Given the description of an element on the screen output the (x, y) to click on. 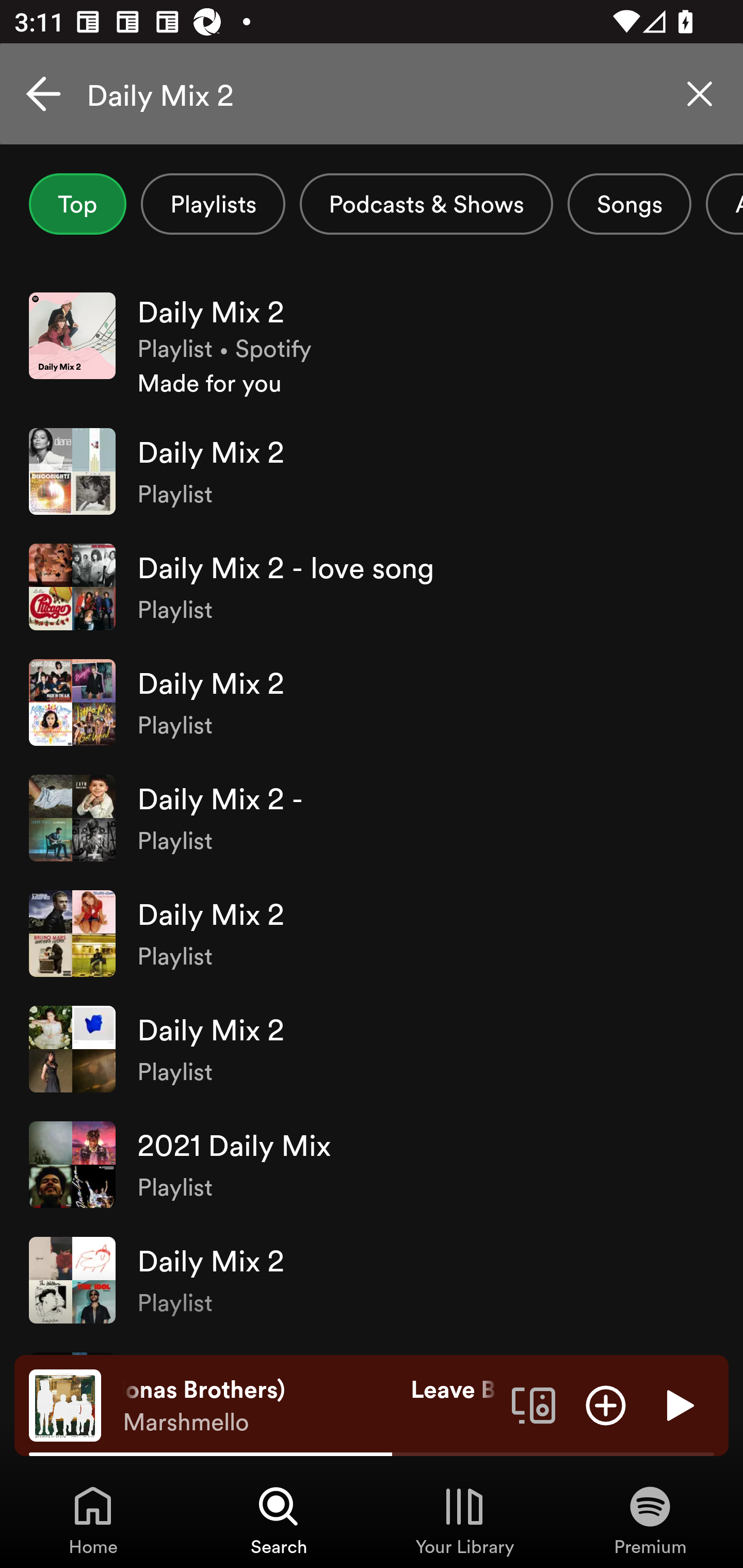
Daily Mix 2 (371, 93)
Cancel (43, 93)
Clear search query (699, 93)
Top (77, 203)
Playlists (213, 203)
Podcasts & Shows (425, 203)
Songs (629, 203)
Albums (724, 203)
Daily Mix 2 Playlist • Spotify Made for you (371, 345)
Daily Mix 2 Playlist (371, 471)
Daily Mix 2 - love song Playlist (371, 586)
Daily Mix 2  Playlist (371, 702)
Daily Mix 2 - Playlist (371, 818)
Daily Mix 2 Playlist (371, 933)
Daily Mix 2 Playlist (371, 1048)
2021 Daily Mix Playlist (371, 1165)
Daily Mix 2 Playlist (371, 1280)
The cover art of the currently playing track (64, 1404)
